Given the description of an element on the screen output the (x, y) to click on. 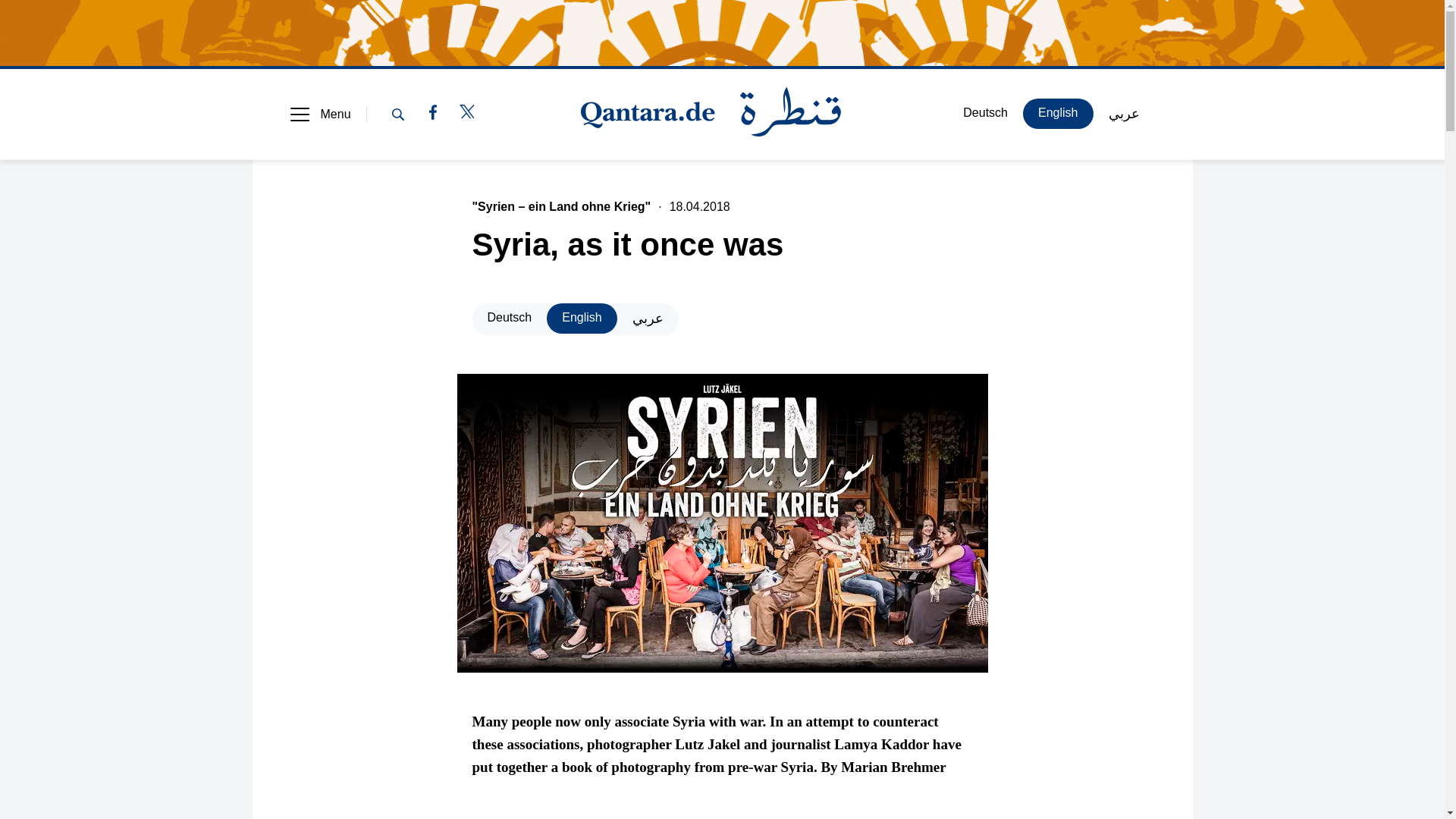
English (1058, 113)
Deutsch (509, 318)
Deutsch (985, 113)
English (581, 318)
Home (710, 113)
Marian Brehmer (525, 818)
